Given the description of an element on the screen output the (x, y) to click on. 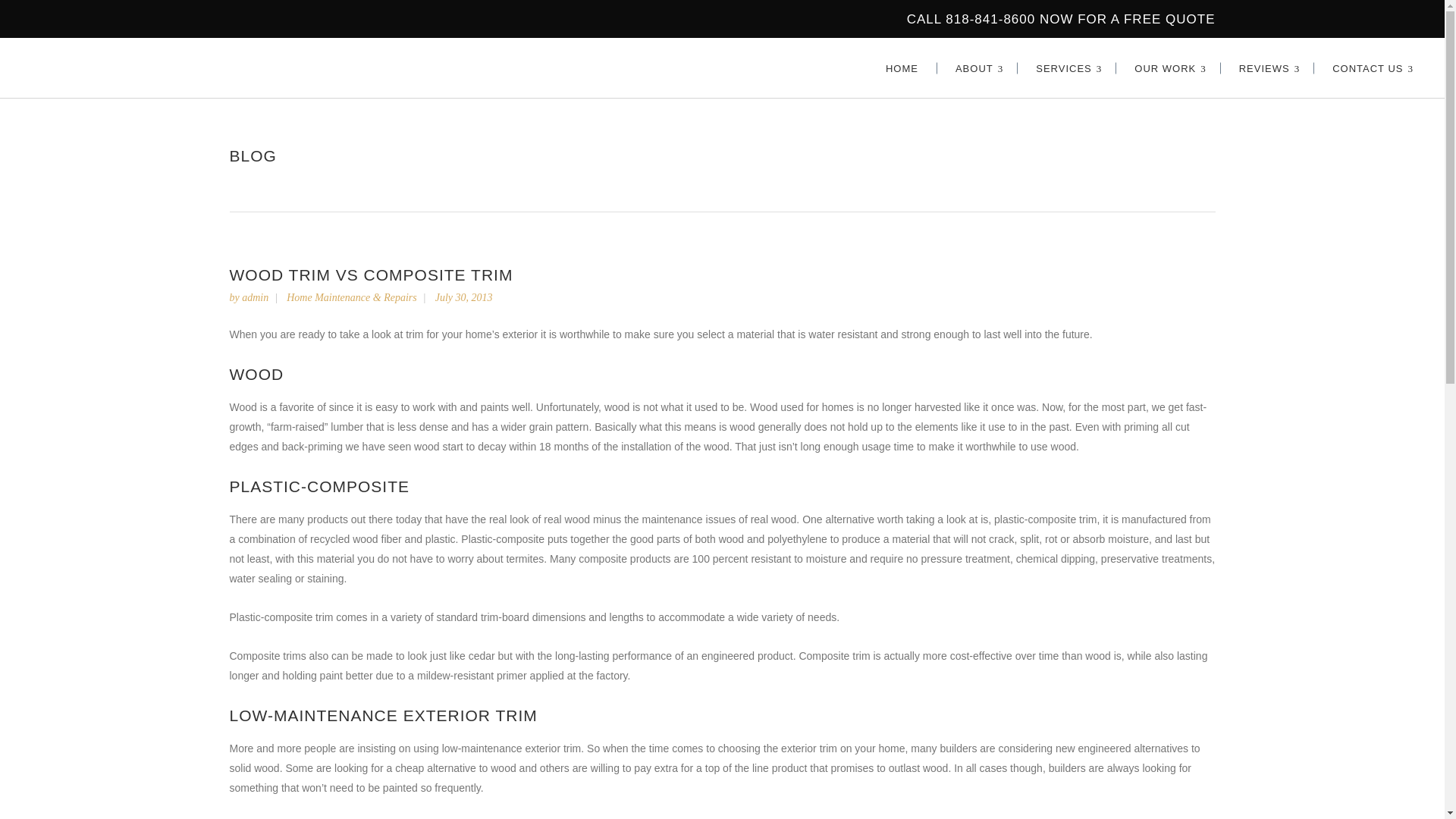
SERVICES (1066, 67)
CALL 818-841-8600 NOW FOR A FREE QUOTE (1061, 19)
REVIEWS (1267, 67)
ABOUT (977, 67)
HOME (902, 67)
CONTACT US (1370, 67)
OUR WORK (1168, 67)
